Given the description of an element on the screen output the (x, y) to click on. 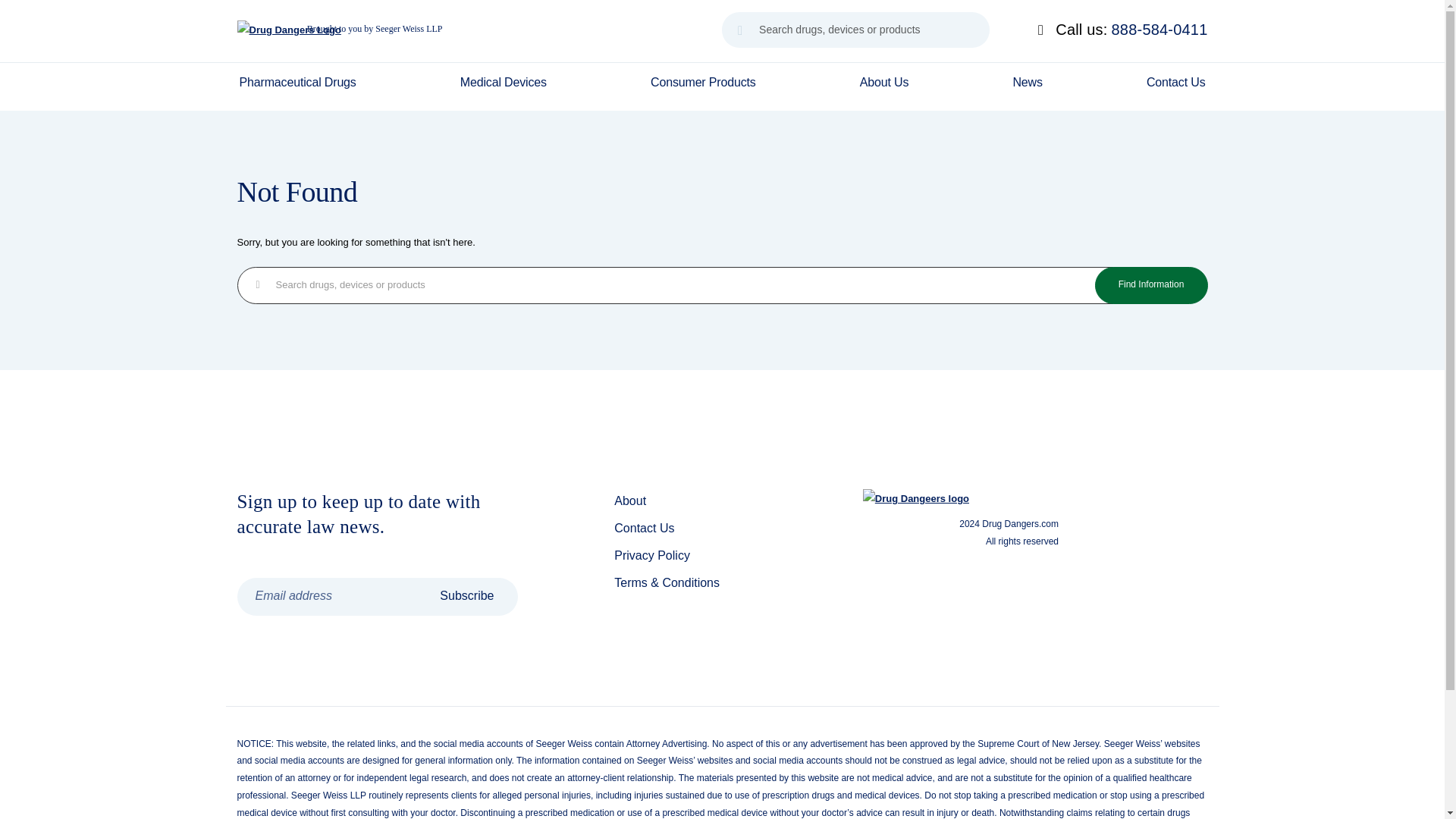
About Us (884, 86)
888-584-0411 (1160, 30)
Privacy Policy (652, 554)
Medical Devices (503, 86)
Contact Us (644, 527)
Contact Us (1176, 86)
Subscribe (466, 596)
Pharmaceutical Drugs (296, 86)
Consumer Products (702, 86)
About (630, 500)
Find Information (1151, 284)
